Given the description of an element on the screen output the (x, y) to click on. 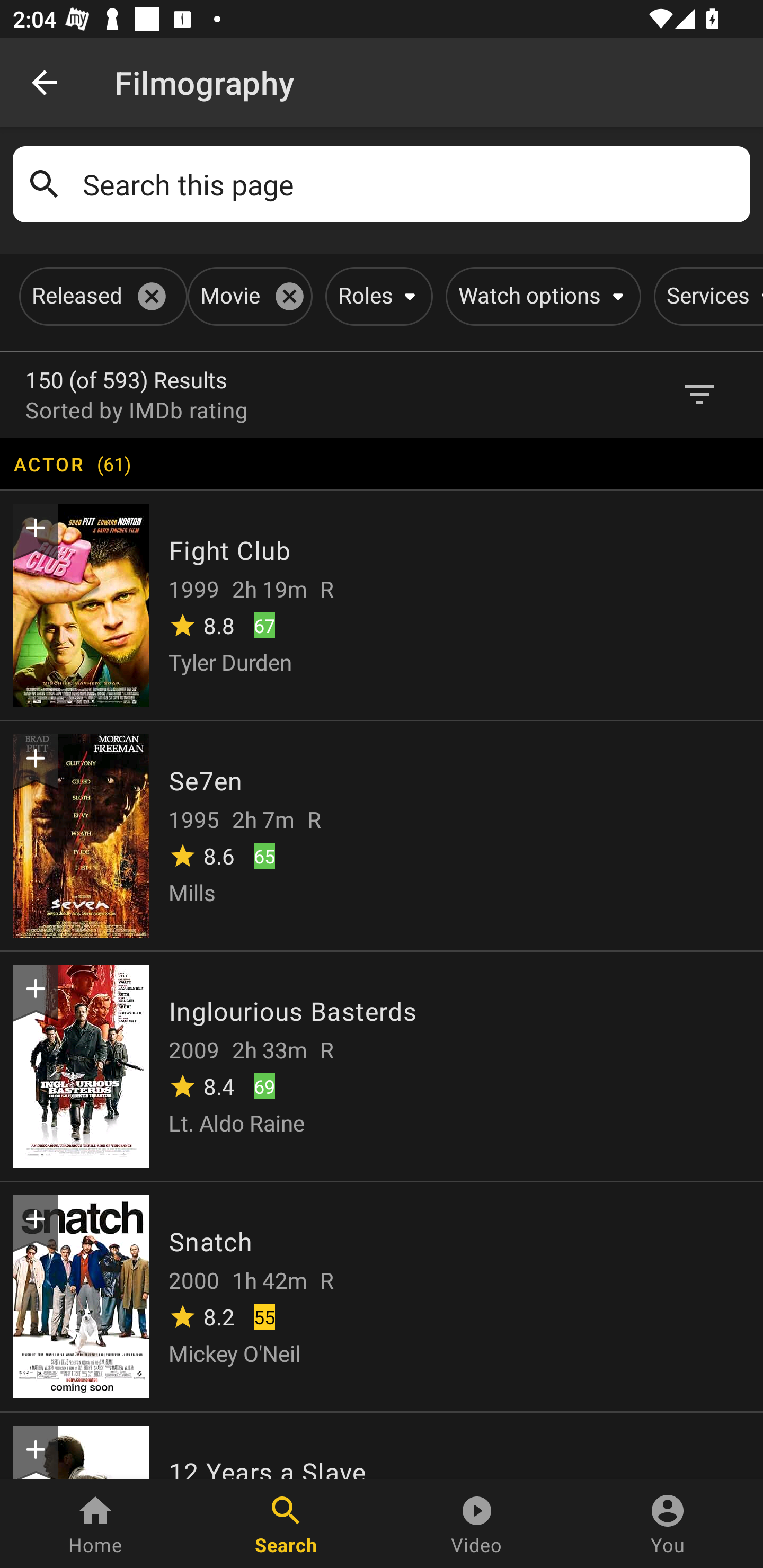
Search this page (410, 184)
Released (100, 296)
Movie (246, 296)
Roles (375, 296)
Watch options (539, 296)
Services (708, 296)
Fight Club 1999 2h 19m R 8.8 67 Tyler Durden (381, 604)
Se7en 1995 2h 7m R 8.6 65 Mills (381, 834)
Snatch 2000 1h 42m R 8.2 55 Mickey O'Neil (381, 1295)
Home (95, 1523)
Video (476, 1523)
You (667, 1523)
